Given the description of an element on the screen output the (x, y) to click on. 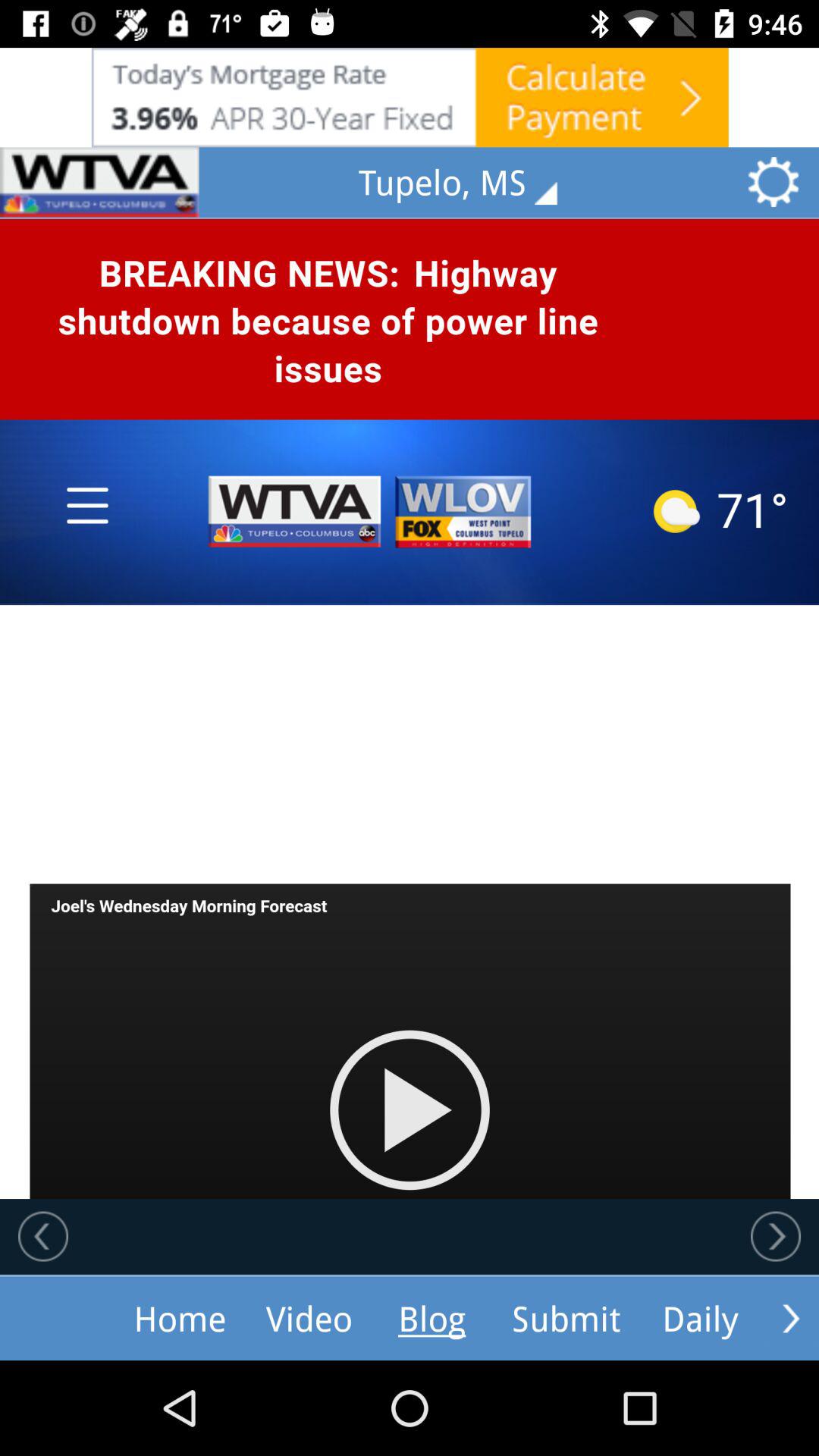
go to toolbar extenion (791, 1318)
